Given the description of an element on the screen output the (x, y) to click on. 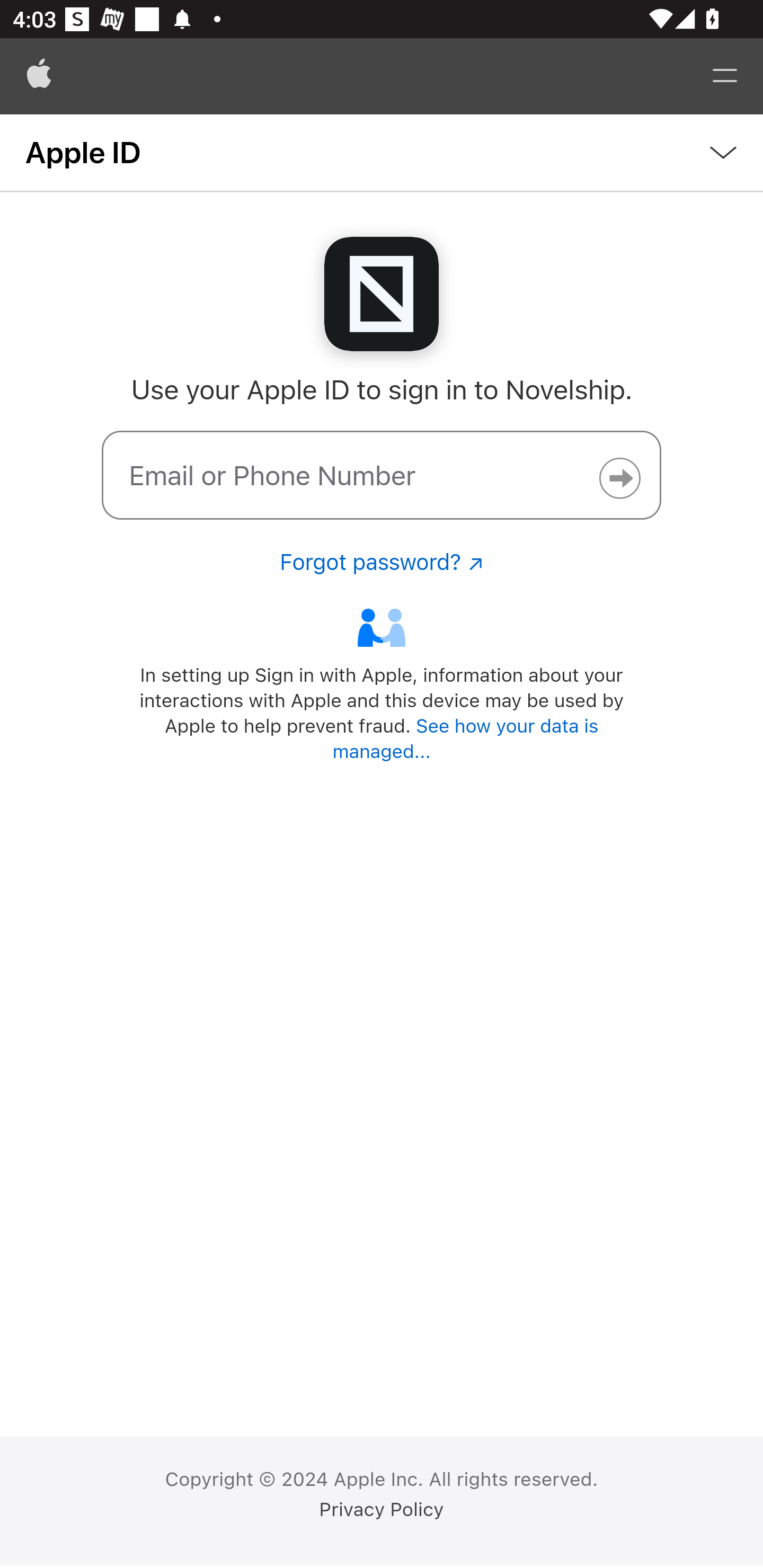
Apple (38, 75)
Menu (724, 75)
Open Menu (381, 152)
Continue (618, 477)
Privacy Policy (381, 1509)
